Given the description of an element on the screen output the (x, y) to click on. 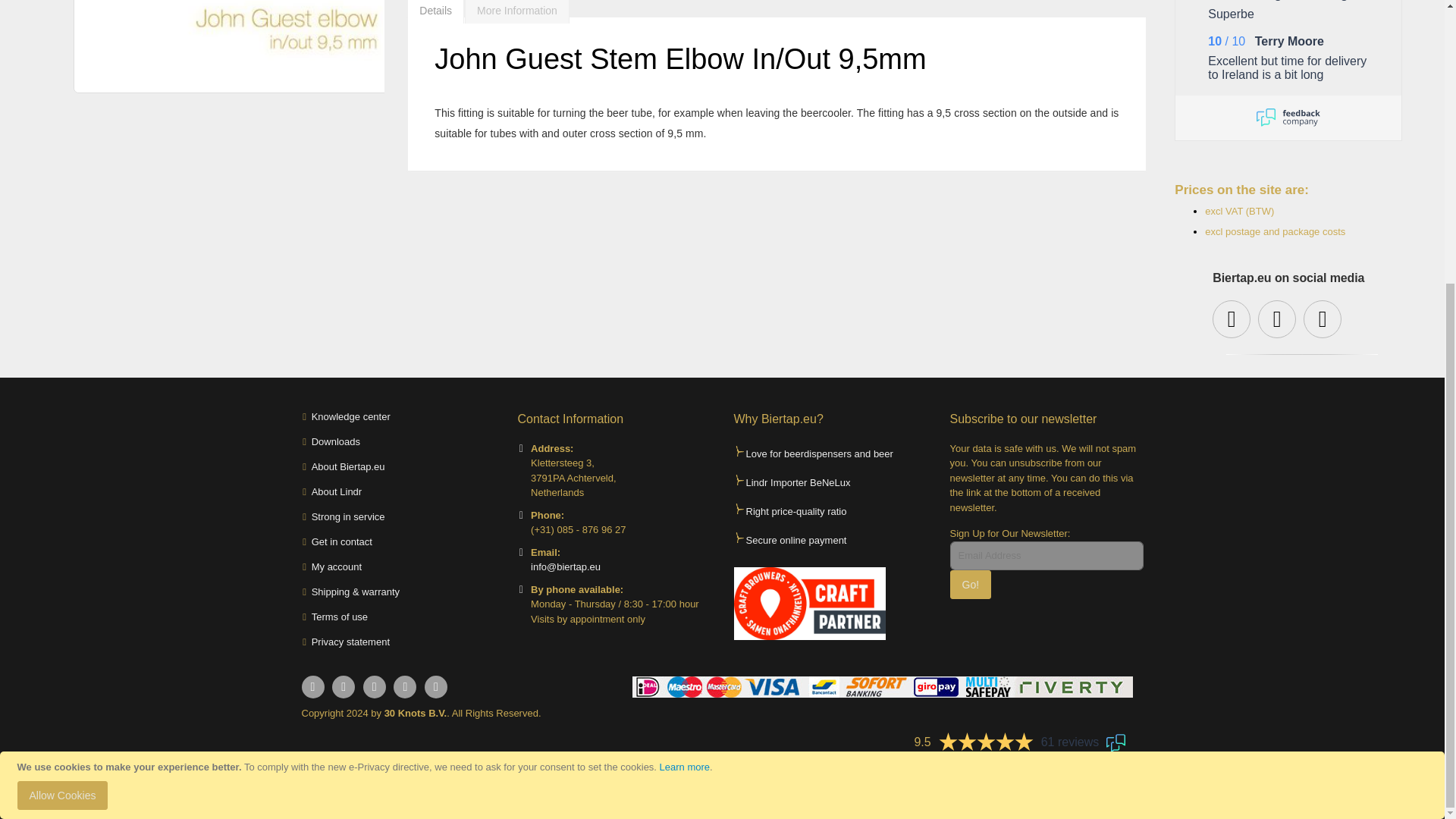
Allow Cookies (61, 369)
Learn more (1288, 117)
